Given the description of an element on the screen output the (x, y) to click on. 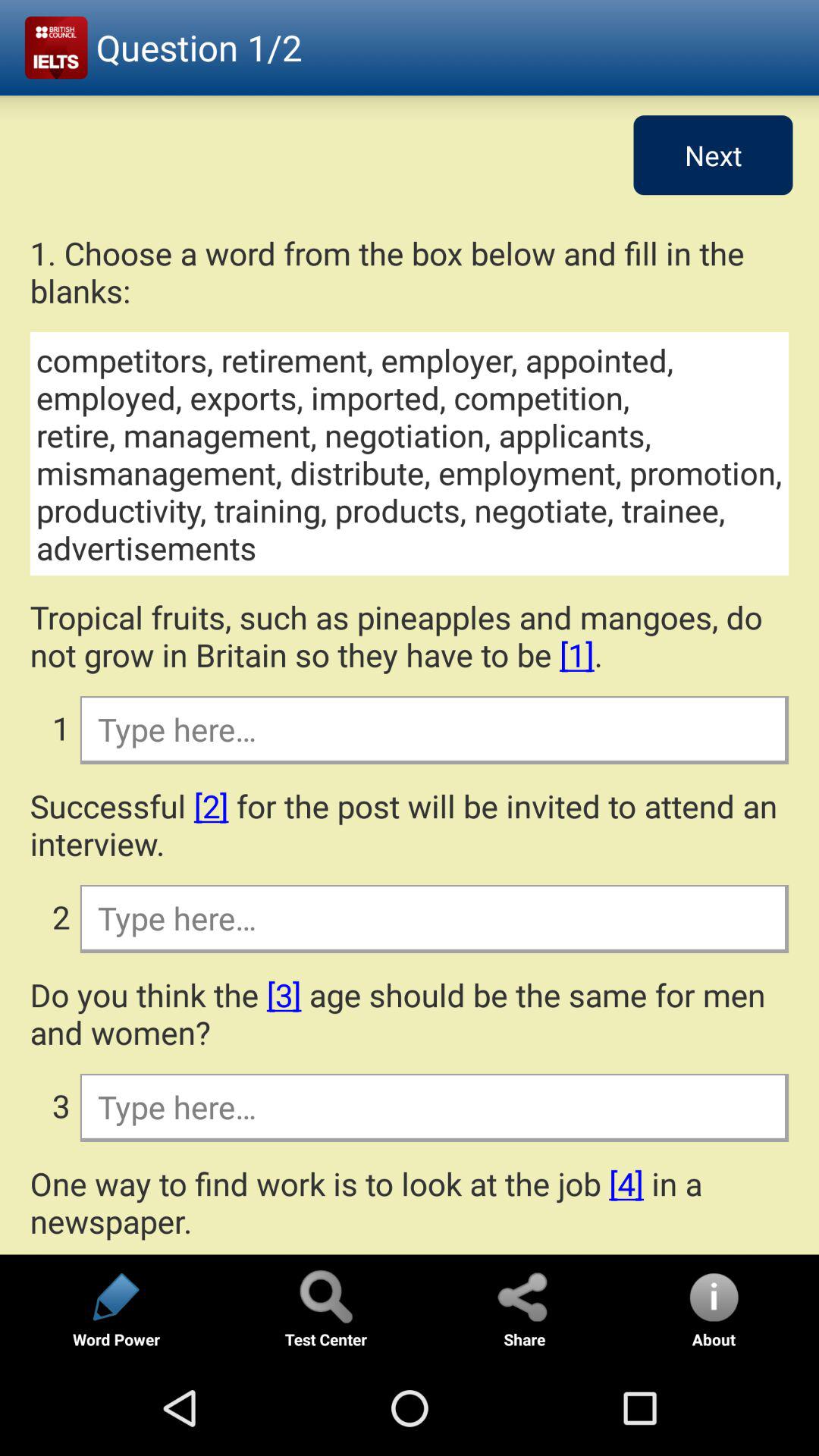
jump until the competitors retirement employer (409, 453)
